Given the description of an element on the screen output the (x, y) to click on. 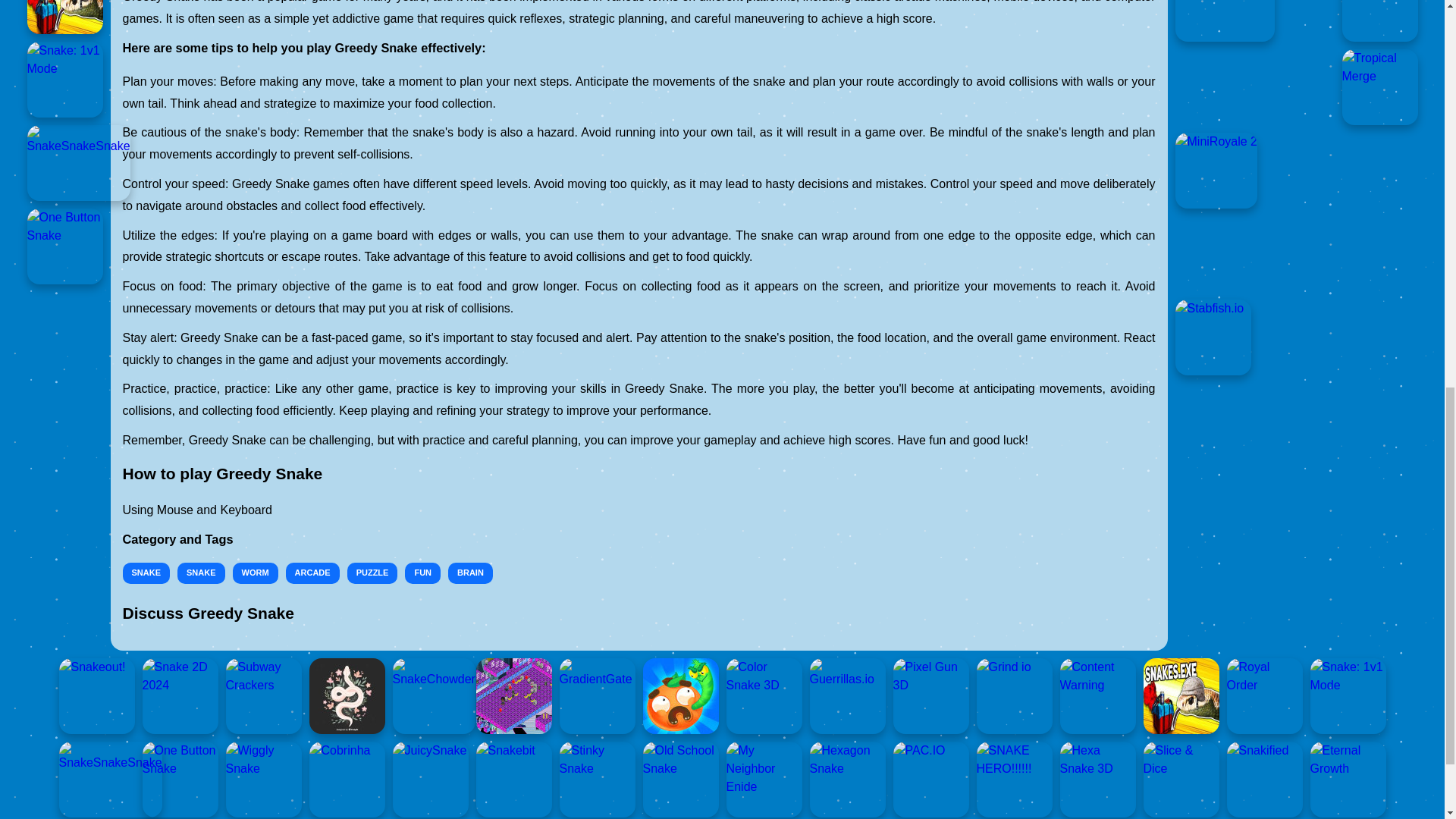
SNAKE (146, 572)
SNAKE (201, 572)
SnakeSnakeSnake (79, 162)
WORM (255, 572)
ARCADE (312, 572)
Snake: 1v1 Mode (65, 79)
One Button Snake (65, 246)
PUZZLE (372, 572)
SnakeZ.exe (65, 17)
FUN (422, 572)
